Given the description of an element on the screen output the (x, y) to click on. 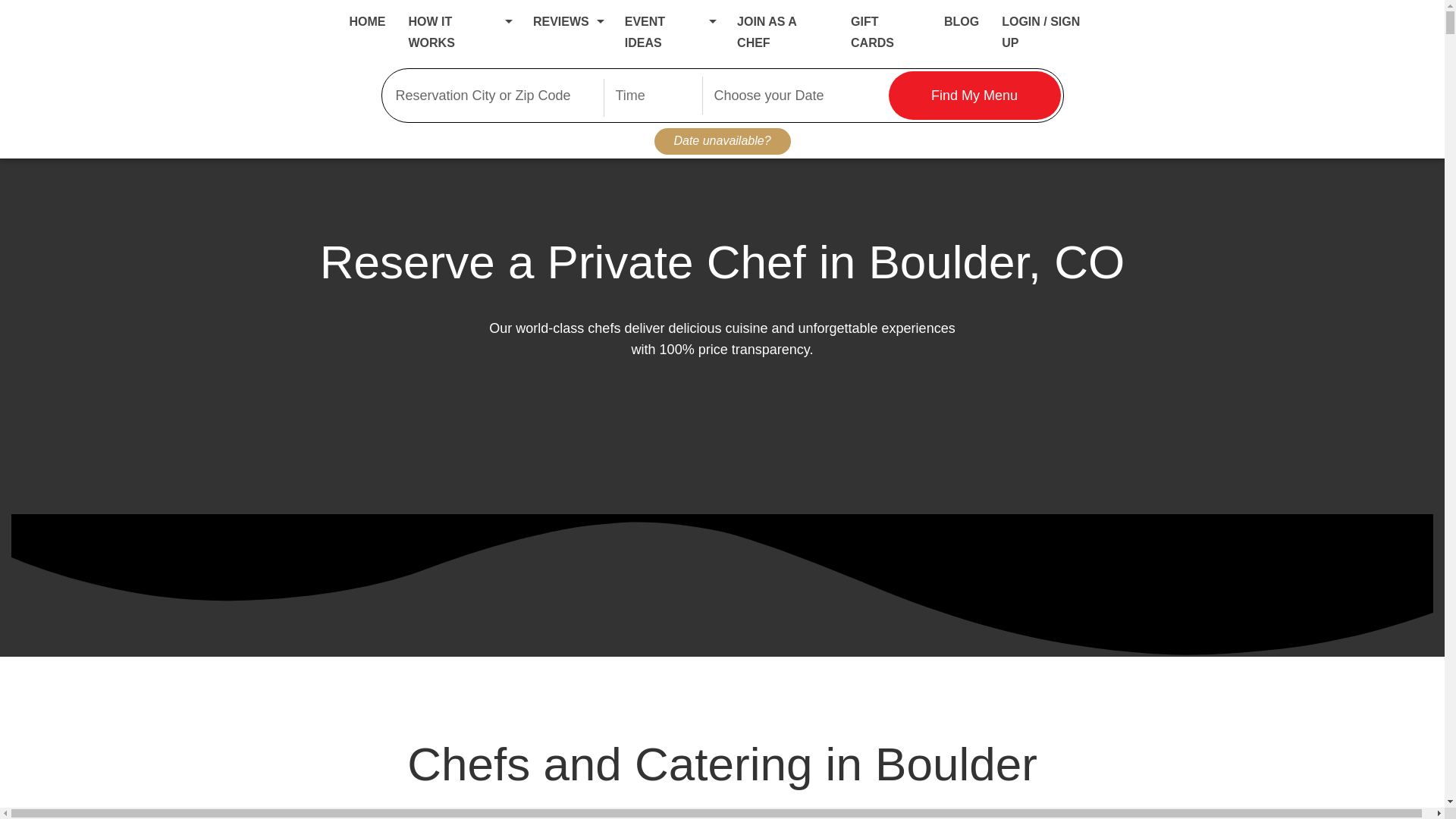
JOIN AS A CHEF (766, 37)
Find My Menu (974, 95)
GIFT CARDS (871, 37)
HOW IT WORKS (430, 37)
HOME (367, 27)
BLOG (960, 27)
REVIEWS (560, 27)
Date unavailable? (721, 140)
Please enter a city or zip code (494, 95)
